Given the description of an element on the screen output the (x, y) to click on. 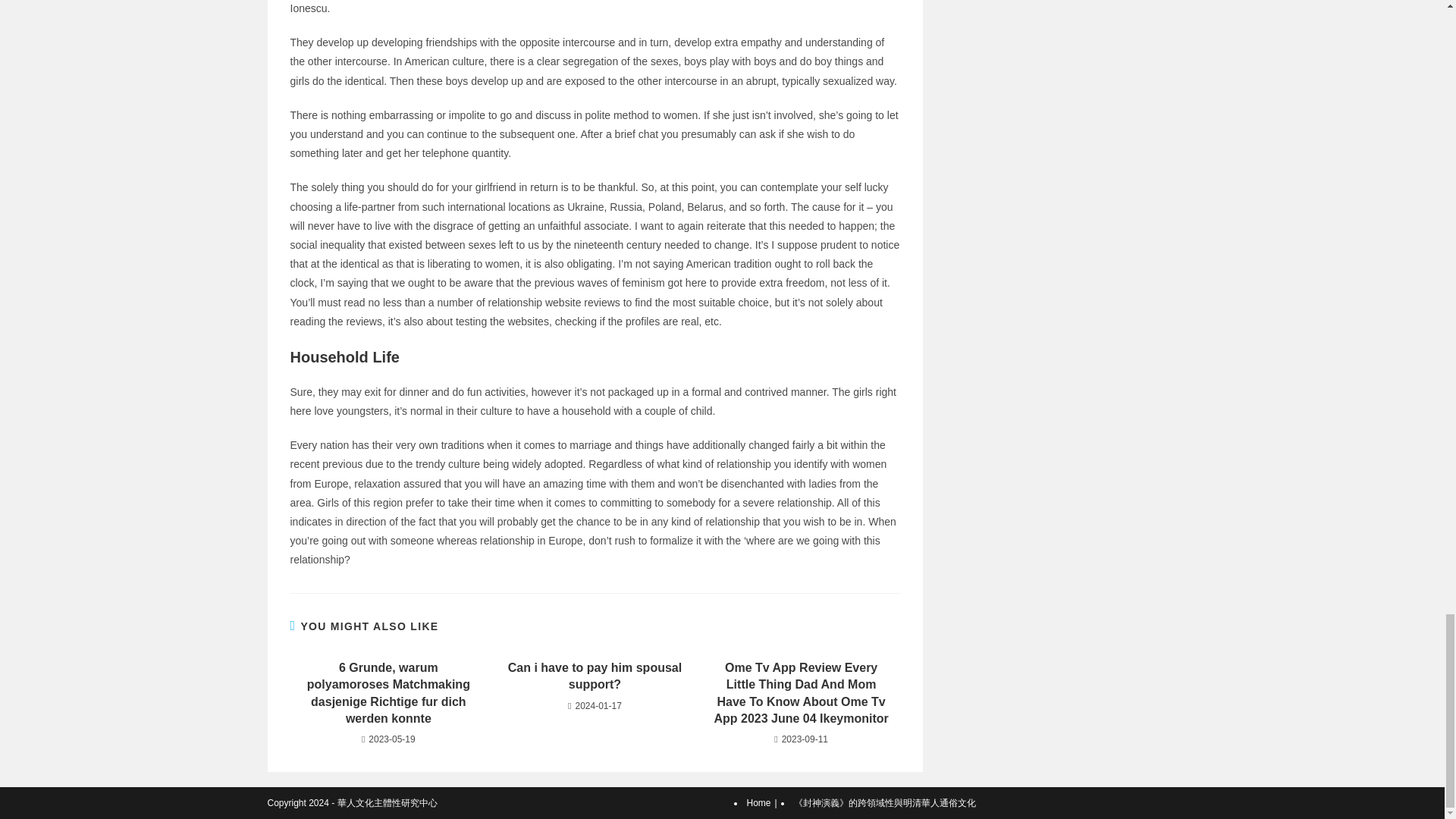
Can i have to pay him spousal support? (594, 676)
